Given the description of an element on the screen output the (x, y) to click on. 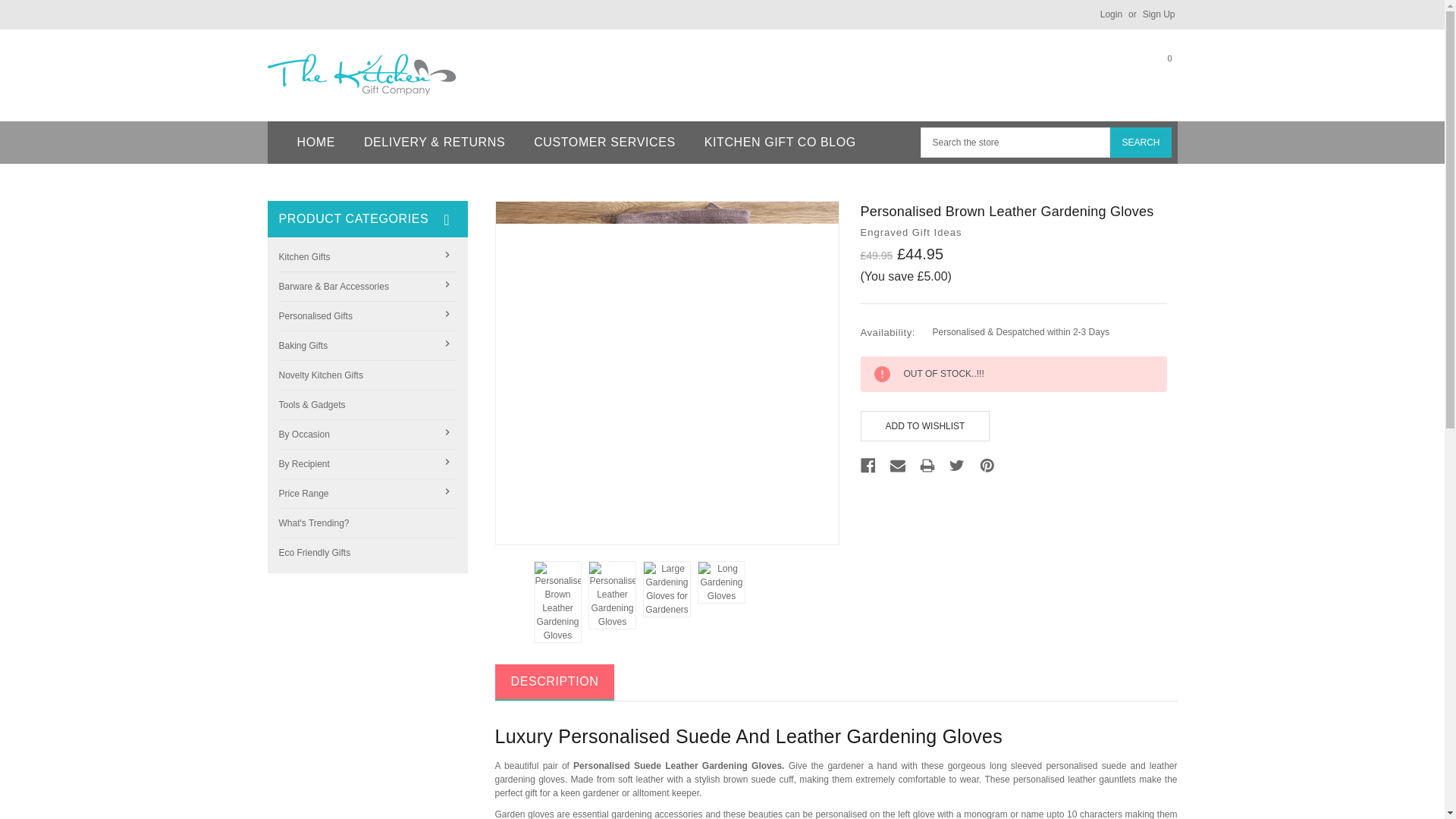
CUSTOMER SERVICES (604, 142)
Add to Wishlist (925, 426)
Personalised Brown Leather Gardening Gloves (667, 372)
Search (1139, 142)
HOME (315, 142)
Personalised Gifts (368, 316)
Long Gardening Gloves (721, 581)
Search (1153, 71)
Login (1139, 142)
